Given the description of an element on the screen output the (x, y) to click on. 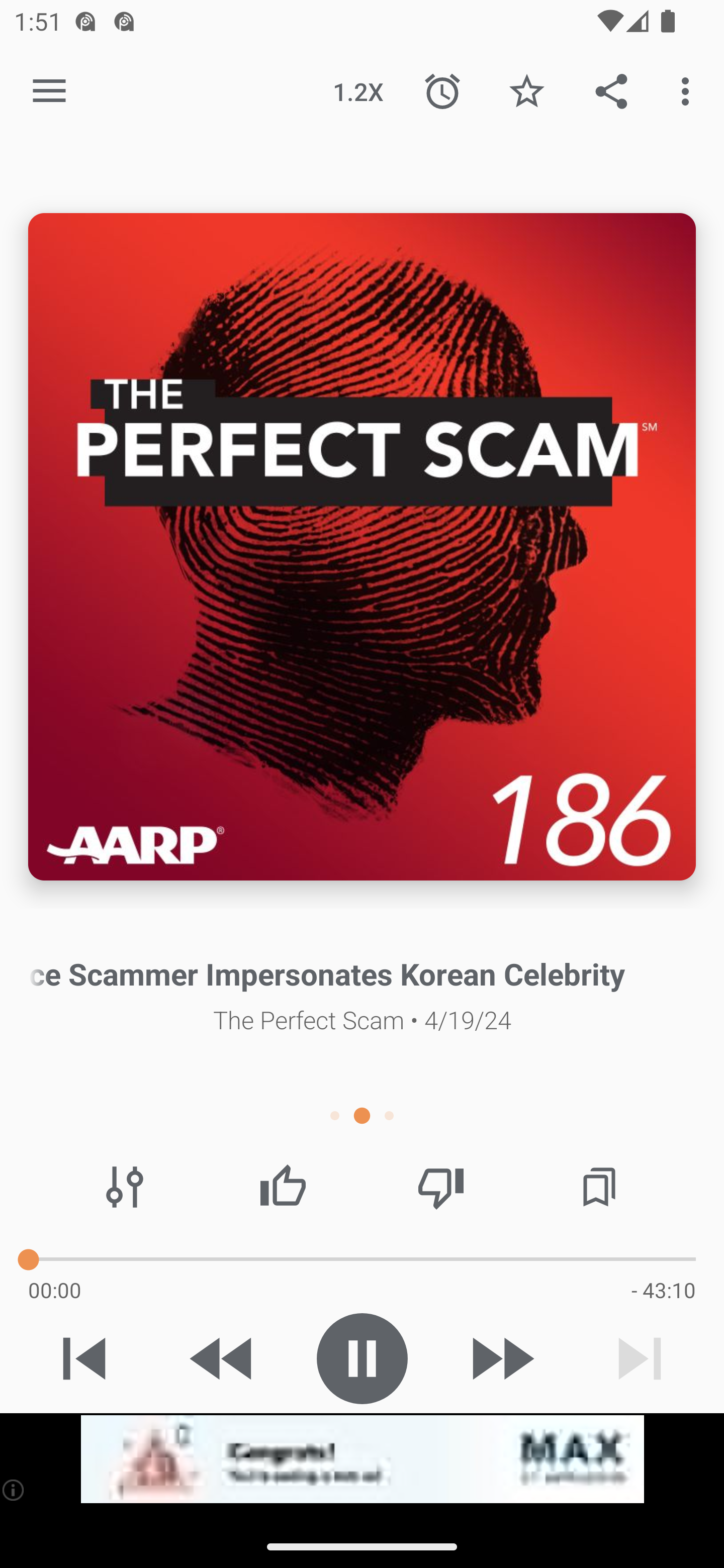
Open navigation sidebar (49, 91)
1.2X (357, 90)
Sleep Timer (442, 90)
Favorite (526, 90)
Share (611, 90)
More options (688, 90)
Episode description (361, 547)
Audio effects (124, 1186)
Thumbs up (283, 1186)
Thumbs down (440, 1186)
Chapters / Bookmarks (598, 1186)
- 43:10 (663, 1289)
Previous track (84, 1358)
Skip 15s backward (222, 1358)
Play / Pause (362, 1358)
Skip 30s forward (500, 1358)
Next track (639, 1358)
app-monetization (362, 1459)
(i) (14, 1489)
